Given the description of an element on the screen output the (x, y) to click on. 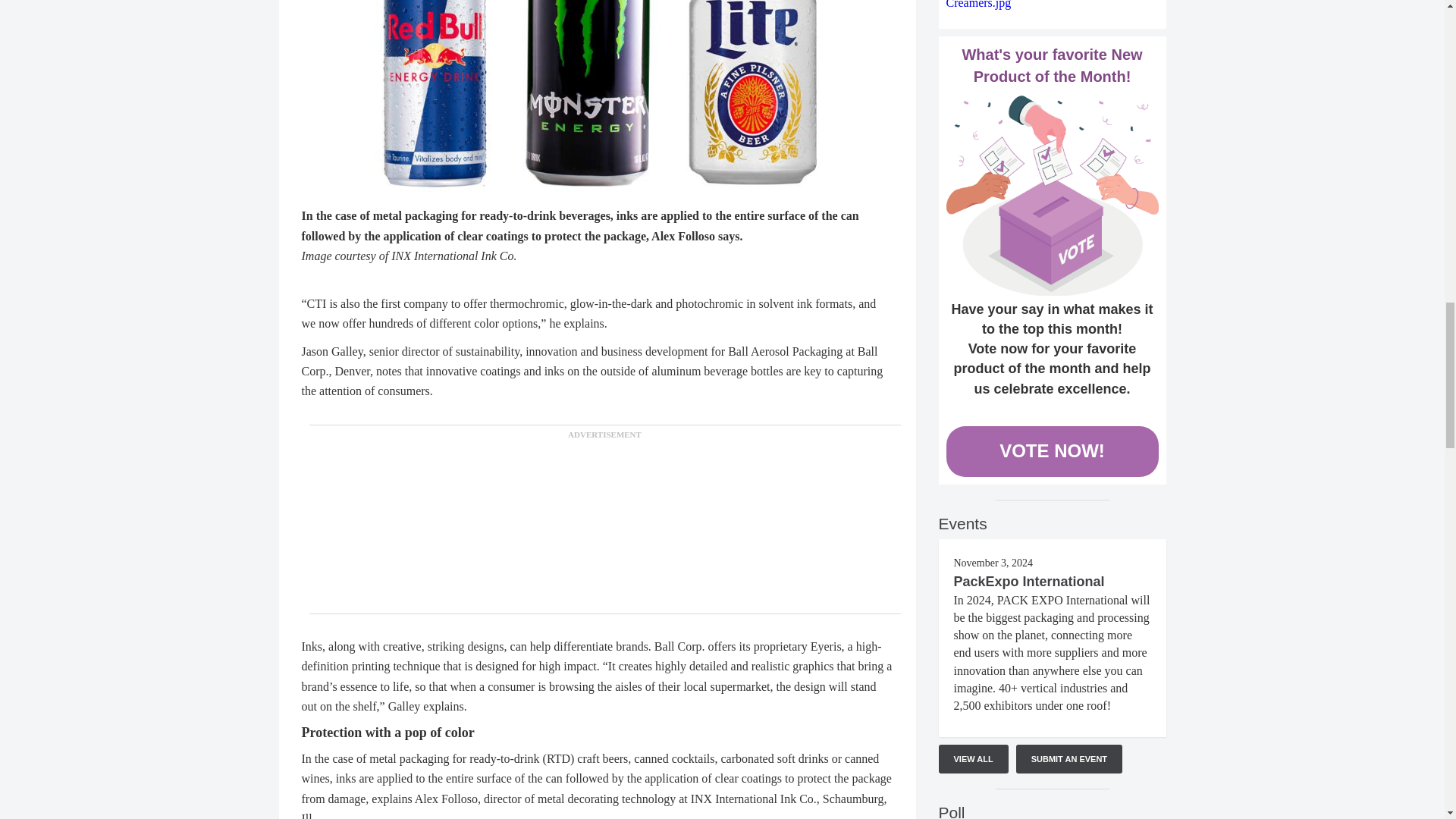
PackExpo International (1029, 581)
Vote (1052, 195)
